Given the description of an element on the screen output the (x, y) to click on. 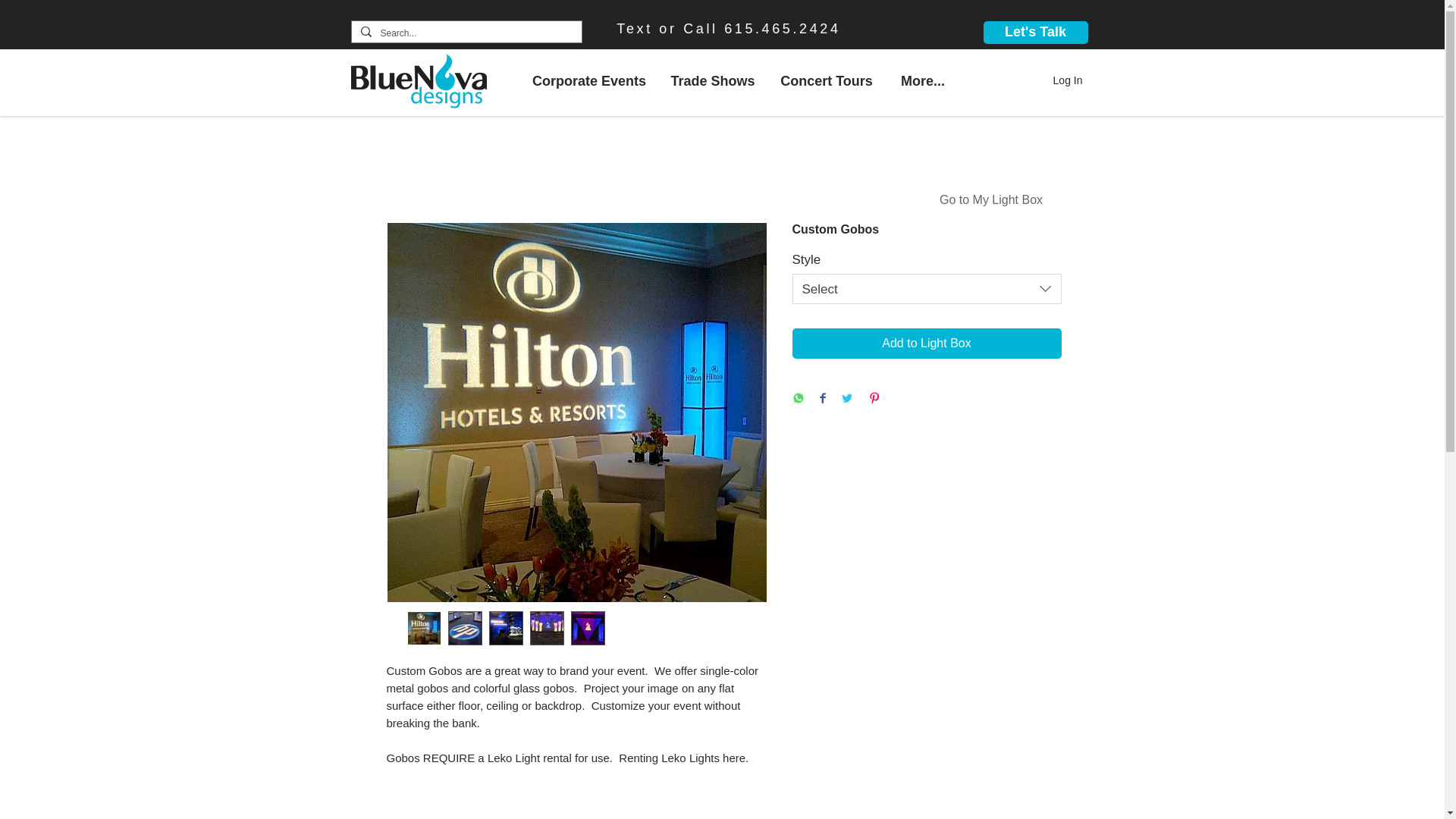
Select (926, 288)
Concert Tours (826, 80)
Trade Shows (713, 80)
Log In (1067, 80)
Text or Call 615.465.2424 (727, 28)
Corporate Events (588, 80)
Go to My Light Box (991, 200)
Add to Light Box (926, 343)
Let's Talk (1034, 32)
